Given the description of an element on the screen output the (x, y) to click on. 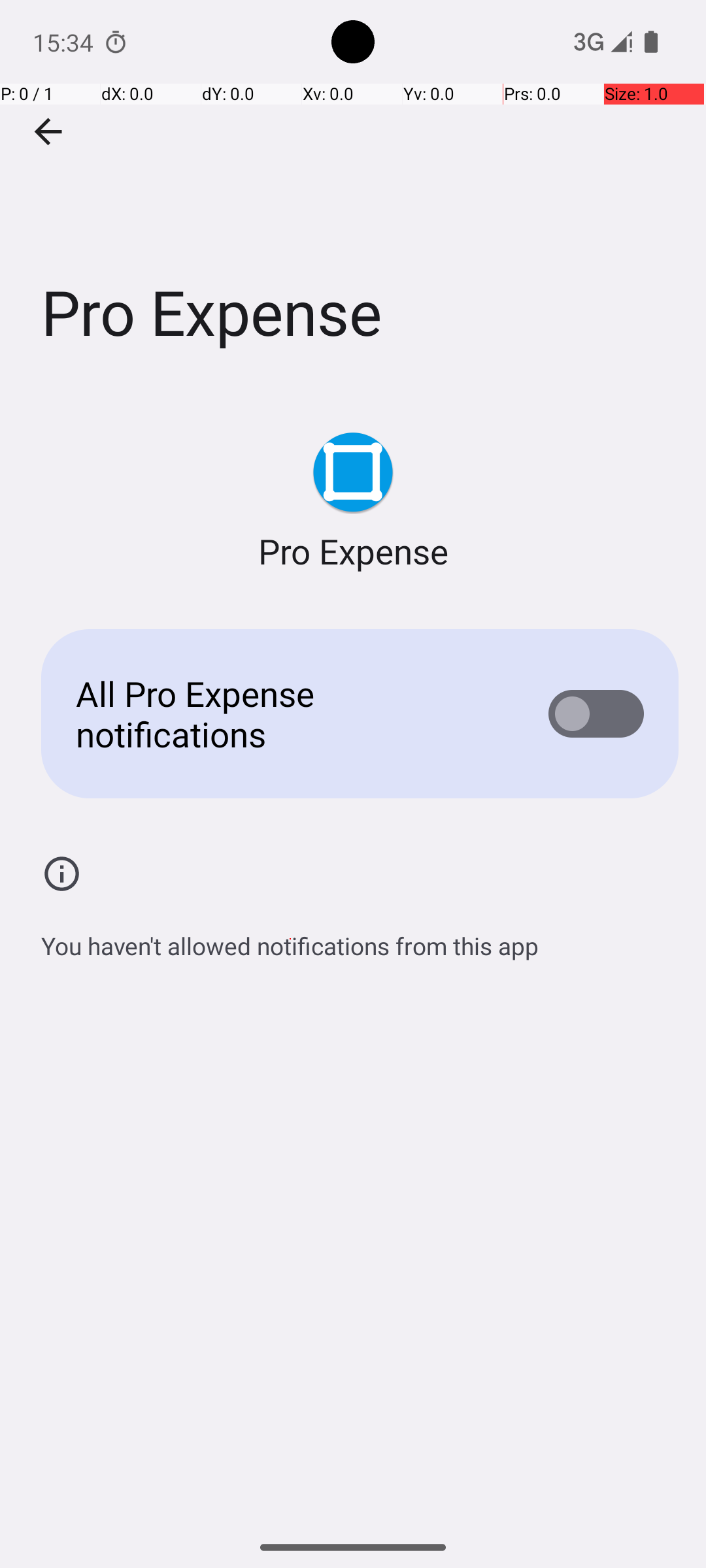
All Pro Expense notifications Element type: android.widget.TextView (291, 713)
